Given the description of an element on the screen output the (x, y) to click on. 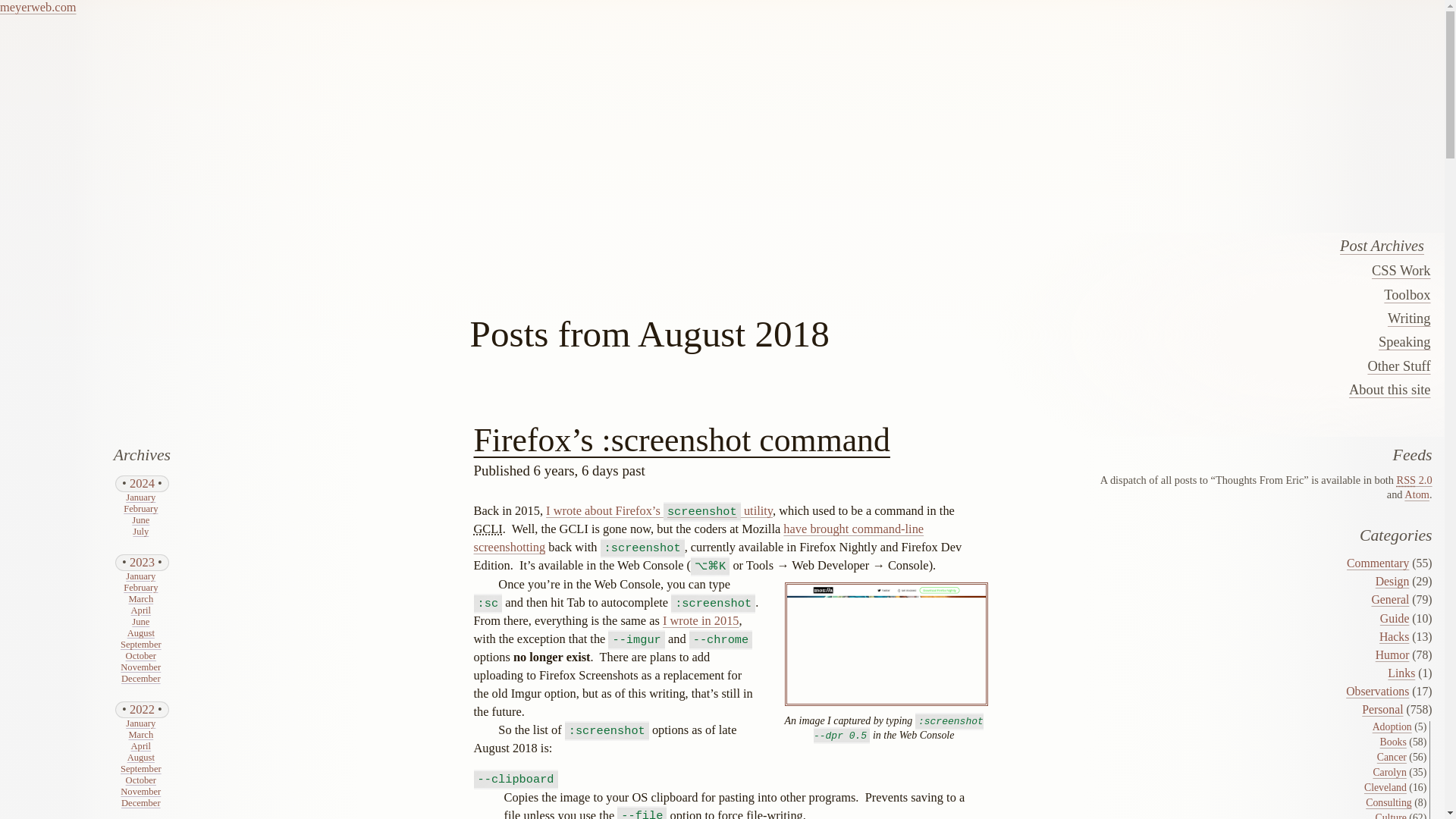
RSS 2.0 (1414, 480)
Post Archives (1217, 245)
Toolbox (1220, 294)
Speaking (1220, 341)
Design (1392, 581)
Really Simple Syndication (1406, 480)
Writing (1220, 318)
CSS Work (1220, 270)
Atom (1417, 494)
have brought command-line screenshotting (698, 537)
